Given the description of an element on the screen output the (x, y) to click on. 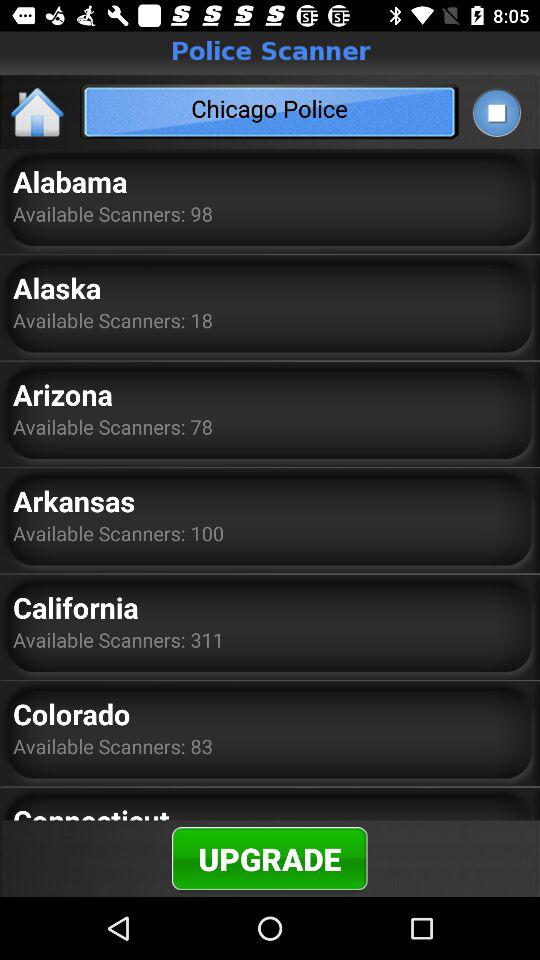
click the item to the right of the chicago police app (496, 111)
